Given the description of an element on the screen output the (x, y) to click on. 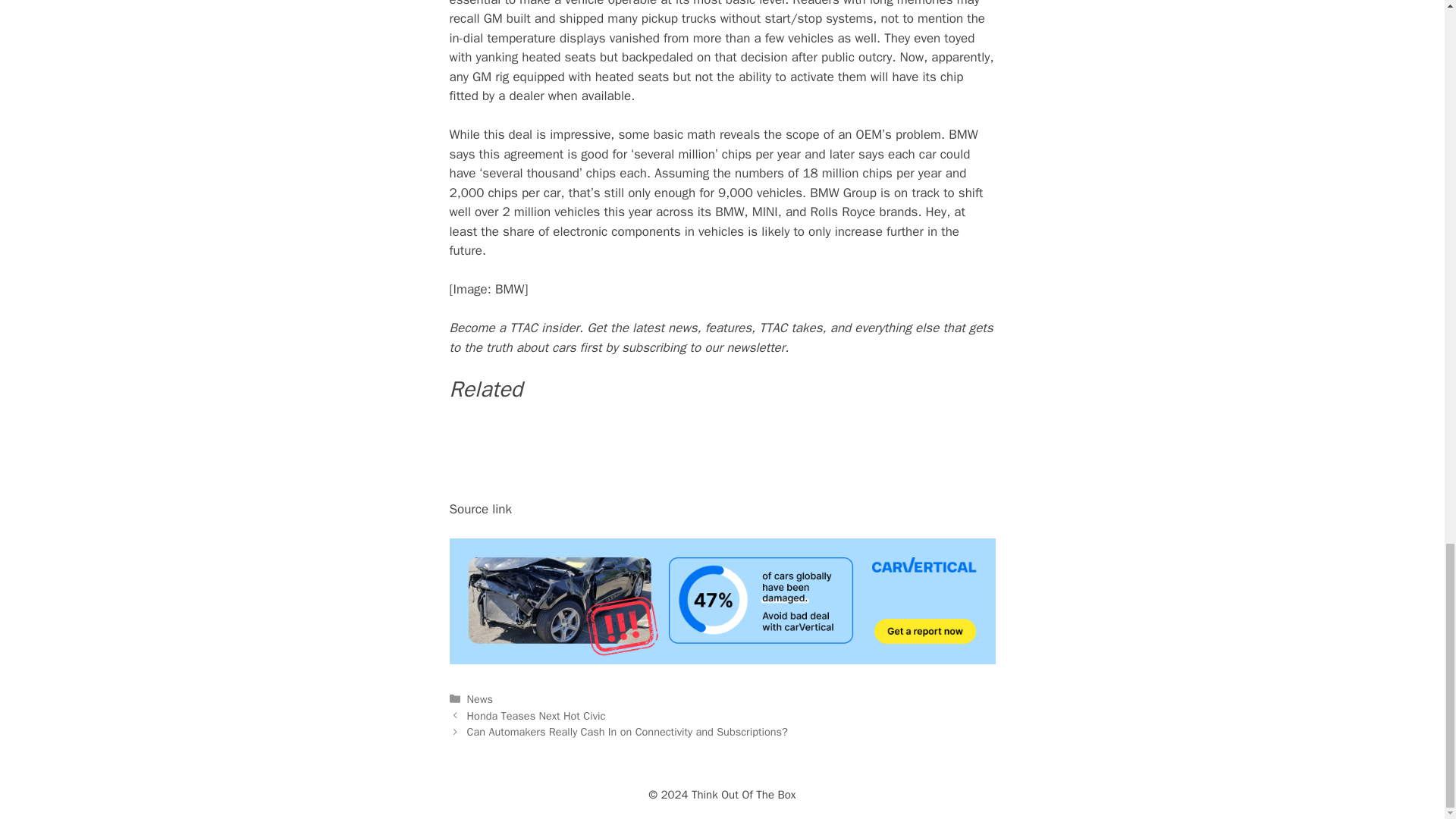
Source link (480, 508)
subscribing to our newsletter (702, 347)
News (480, 698)
Honda Teases Next Hot Civic (536, 715)
